Given the description of an element on the screen output the (x, y) to click on. 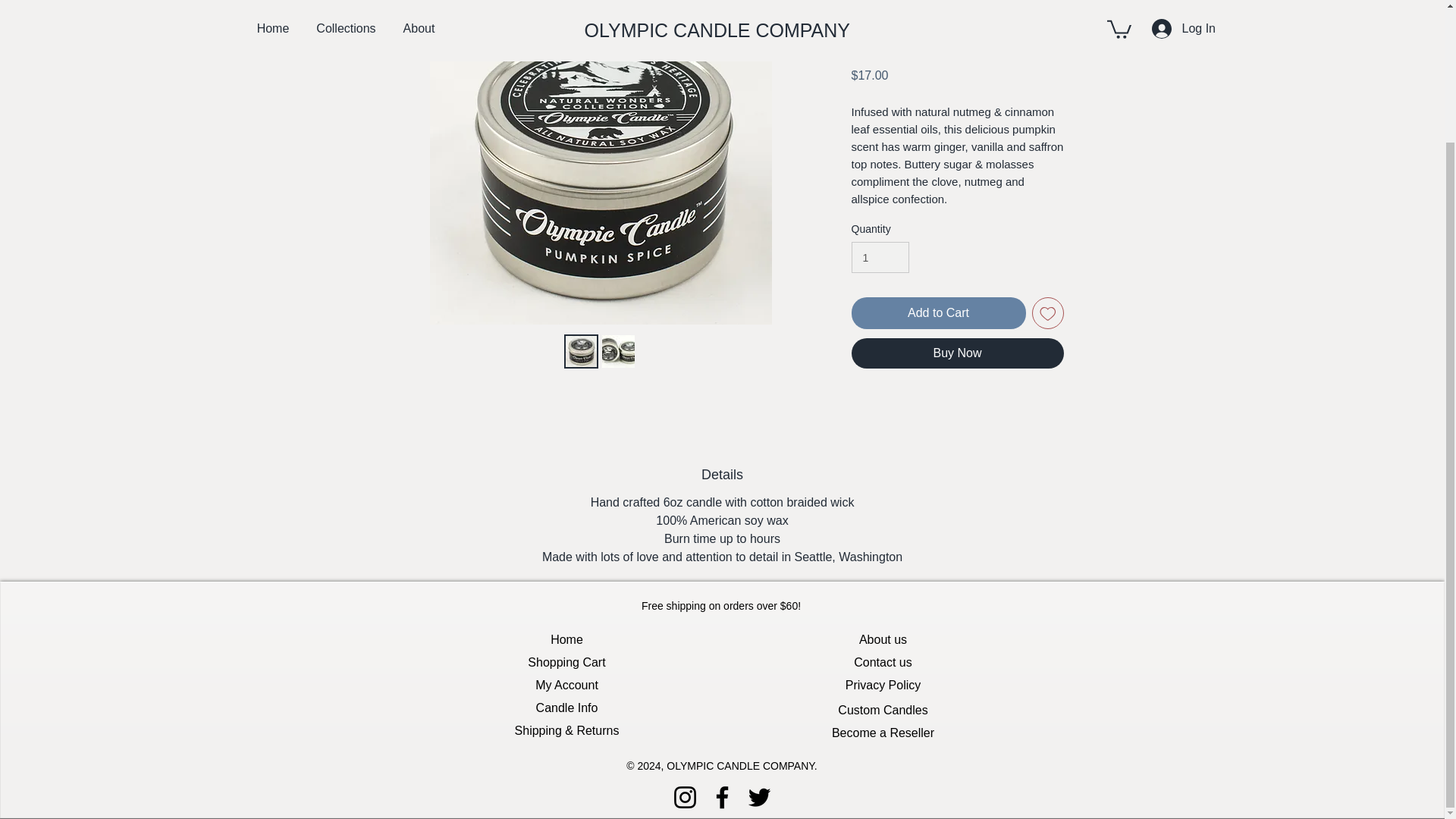
Custom Candles (883, 710)
Contact us (883, 662)
Buy Now (956, 353)
About us (883, 639)
1 (879, 256)
Shopping Cart (566, 662)
Add to Cart (937, 313)
Become a Reseller (883, 732)
Privacy Policy (883, 685)
Candle Info (567, 707)
